Given the description of an element on the screen output the (x, y) to click on. 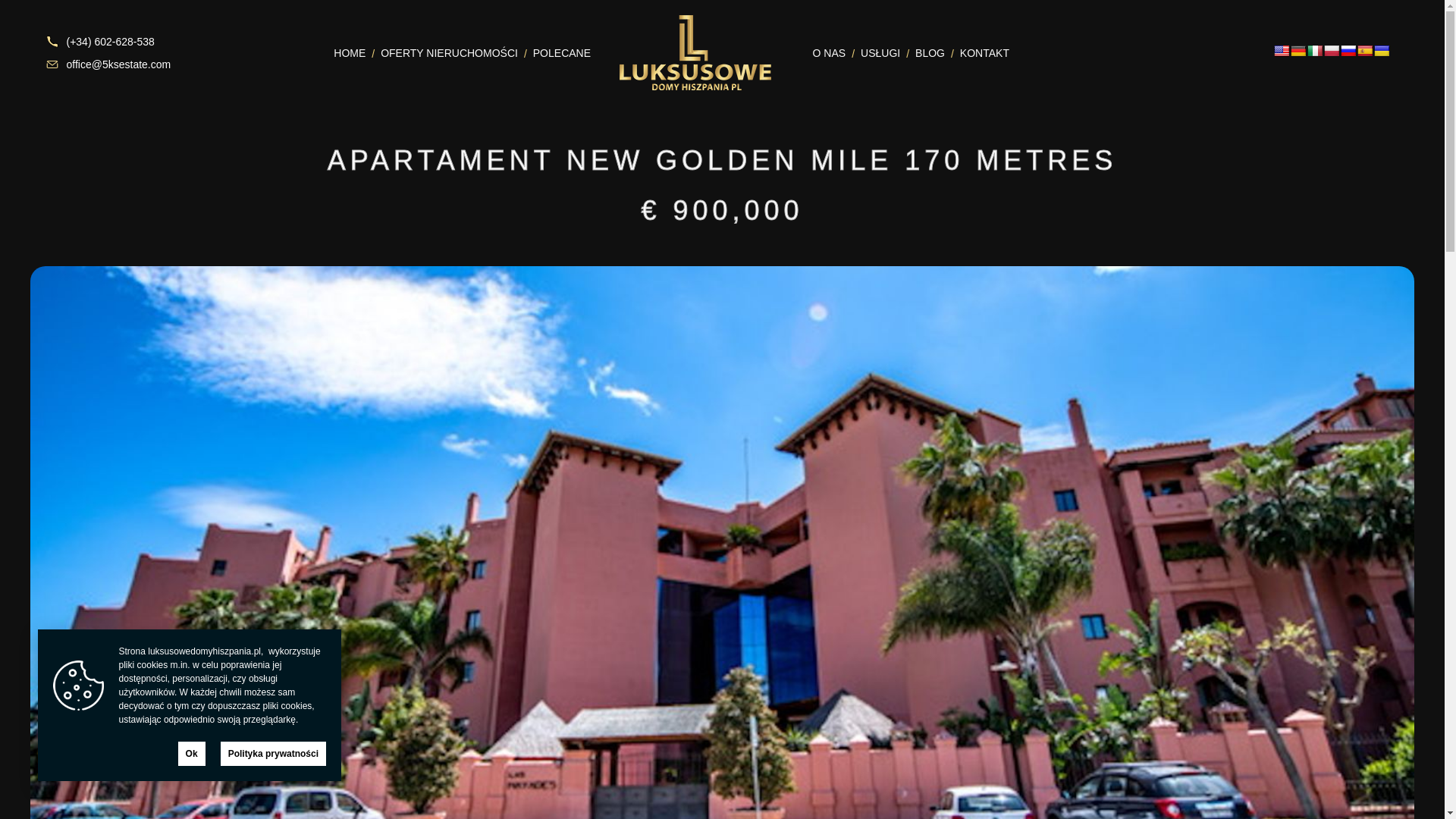
German (1298, 50)
Spanish (1364, 50)
Italian (1314, 50)
English (1281, 50)
Polish (1331, 50)
O NAS (822, 52)
BLOG (921, 52)
Russian (1347, 50)
KONTAKT (976, 52)
POLECANE (554, 52)
HOME (343, 52)
